Given the description of an element on the screen output the (x, y) to click on. 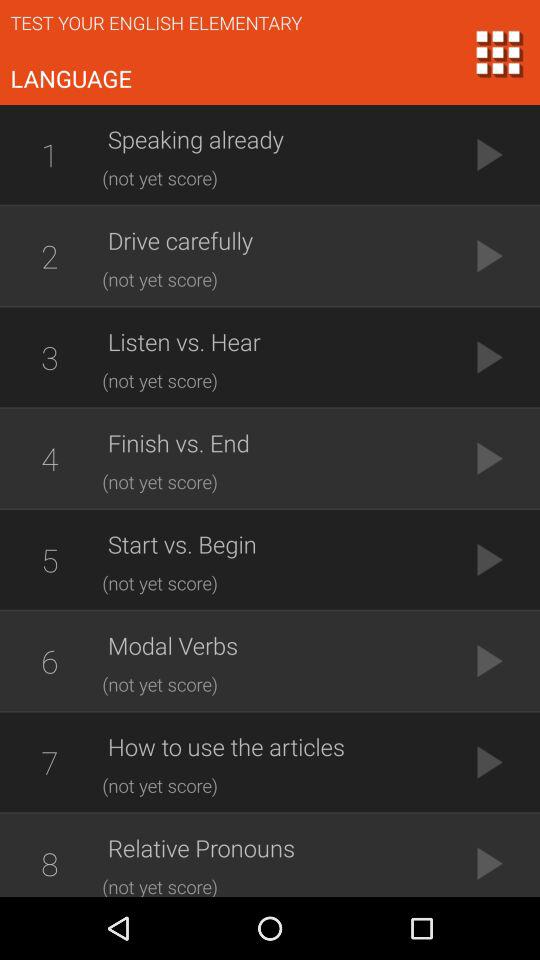
turn on app to the left of the  finish vs. end item (49, 458)
